Given the description of an element on the screen output the (x, y) to click on. 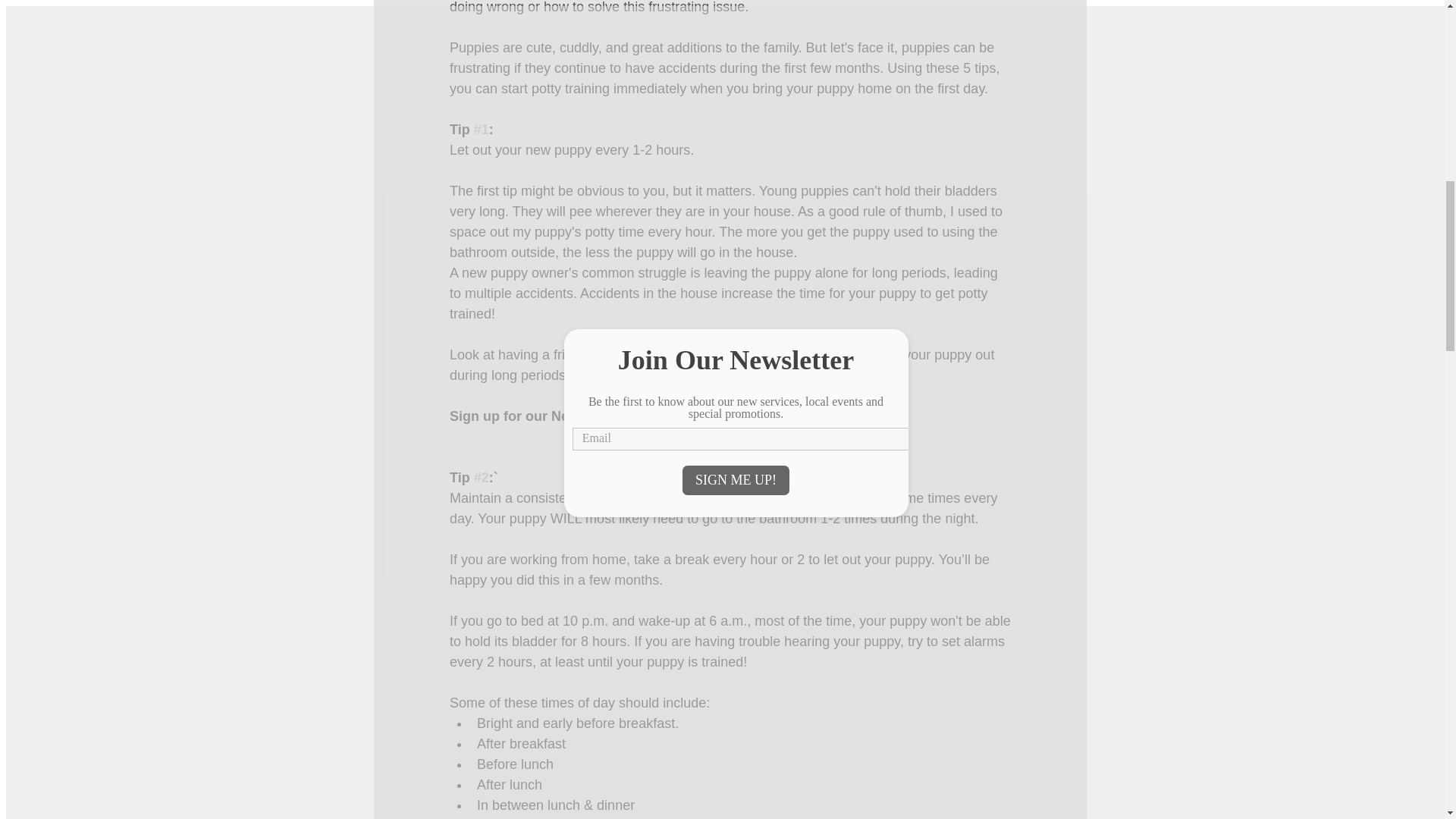
Register here (810, 416)
